Given the description of an element on the screen output the (x, y) to click on. 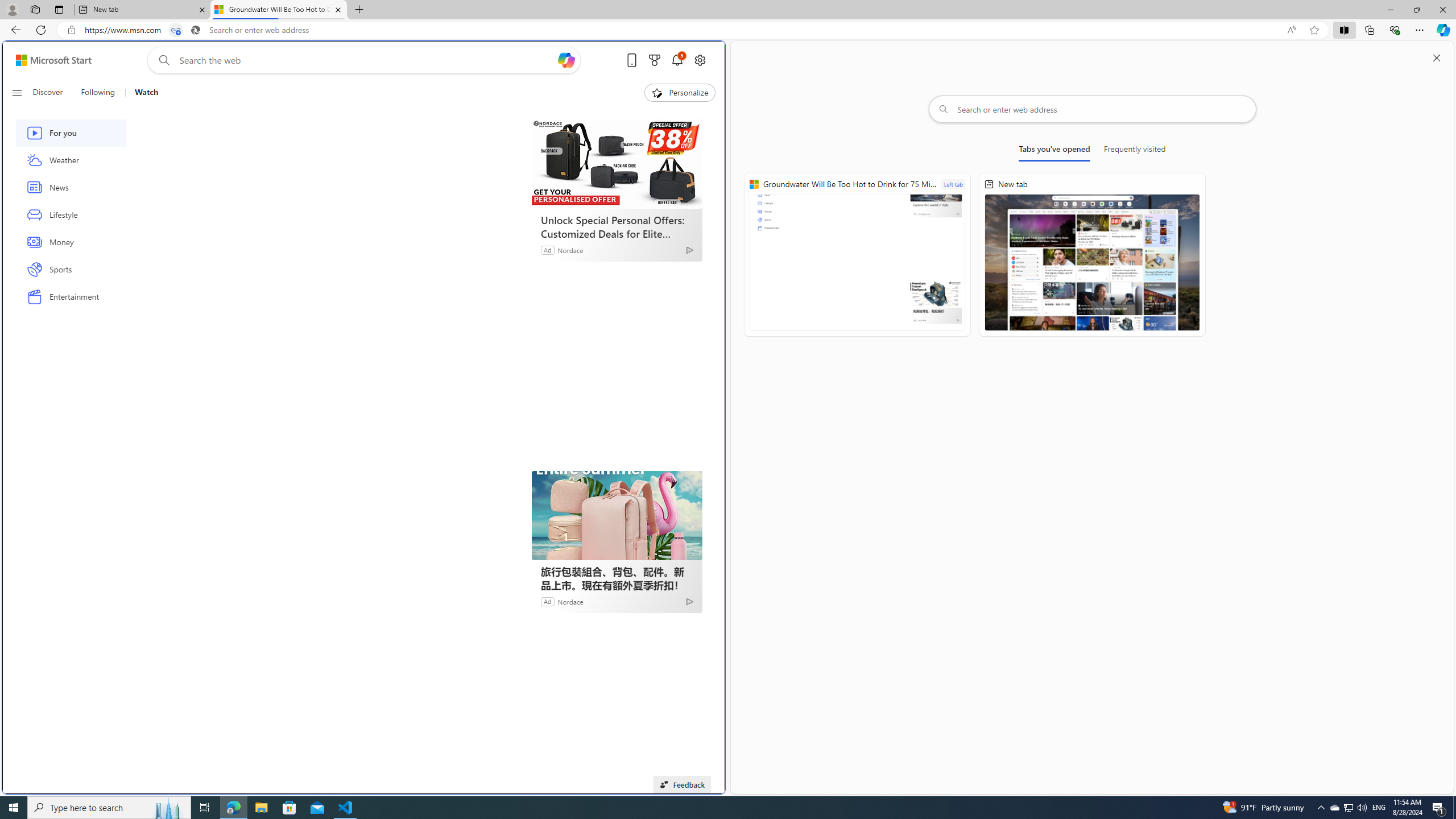
Skip to footer (46, 59)
Open navigation menu (16, 92)
Personalize (679, 92)
Feedback (681, 784)
